Given the description of an element on the screen output the (x, y) to click on. 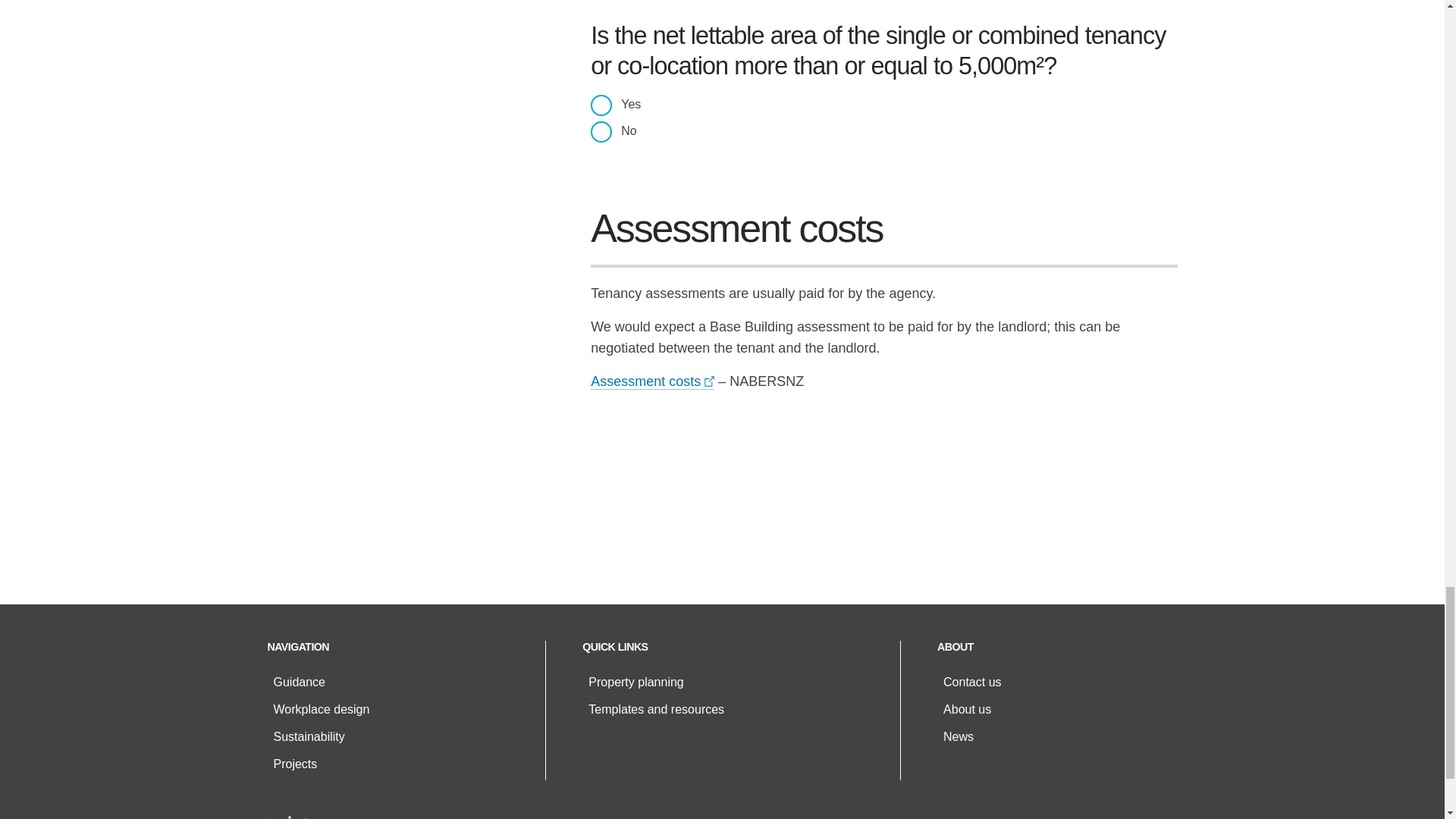
About us (967, 708)
Contact us (972, 681)
Assessment costs (652, 381)
Templates and resources (655, 708)
Workplace design (321, 708)
Sustainability (308, 736)
News (958, 736)
Guidance (298, 681)
